Given the description of an element on the screen output the (x, y) to click on. 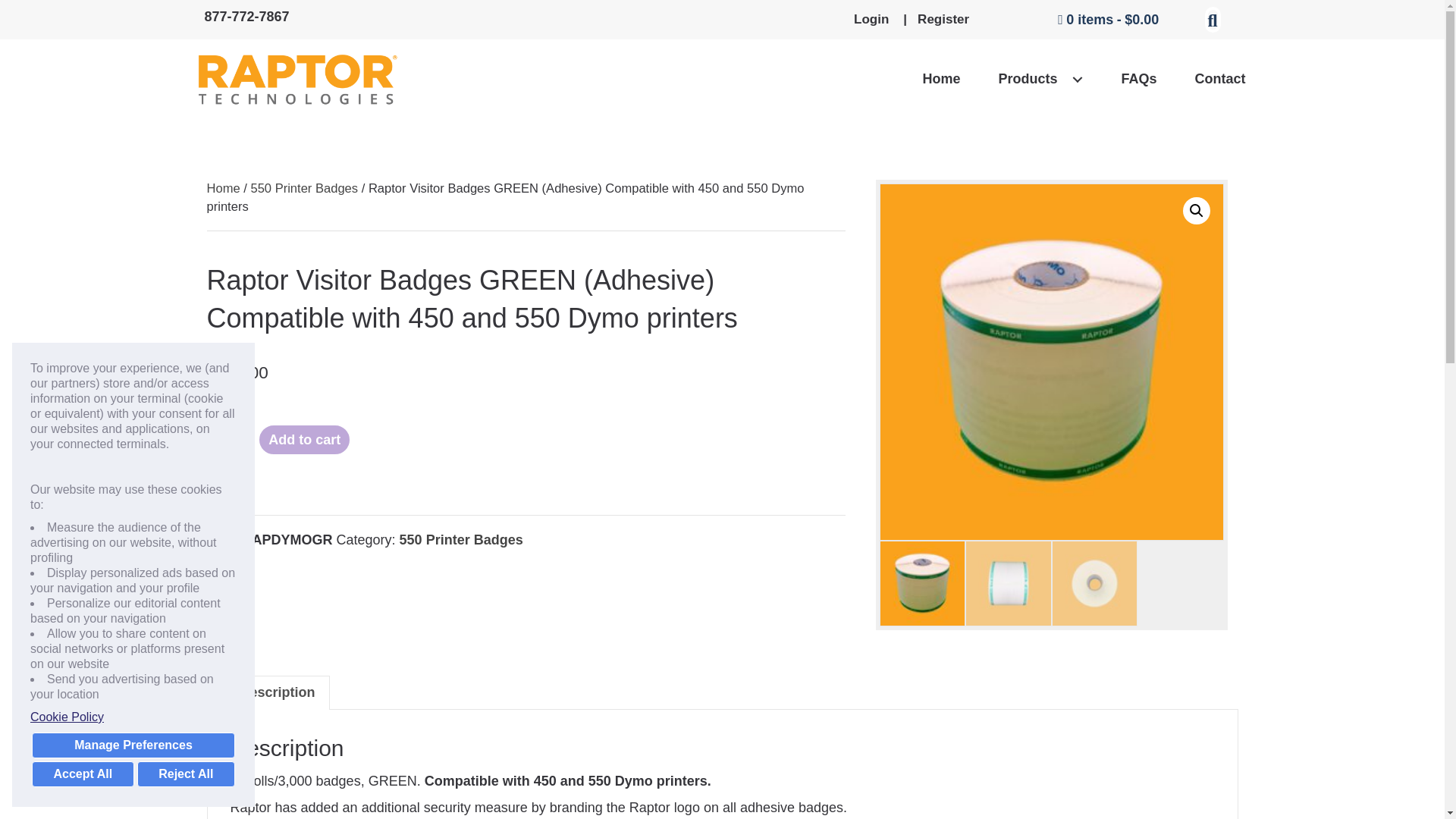
FAQs (1138, 79)
Start shopping (1108, 19)
877-772-7867 (247, 16)
Reject All (185, 774)
Contact (1219, 79)
Register (941, 19)
1 (225, 435)
Products (1039, 79)
Cookie Policy (132, 717)
Home (941, 79)
